Given the description of an element on the screen output the (x, y) to click on. 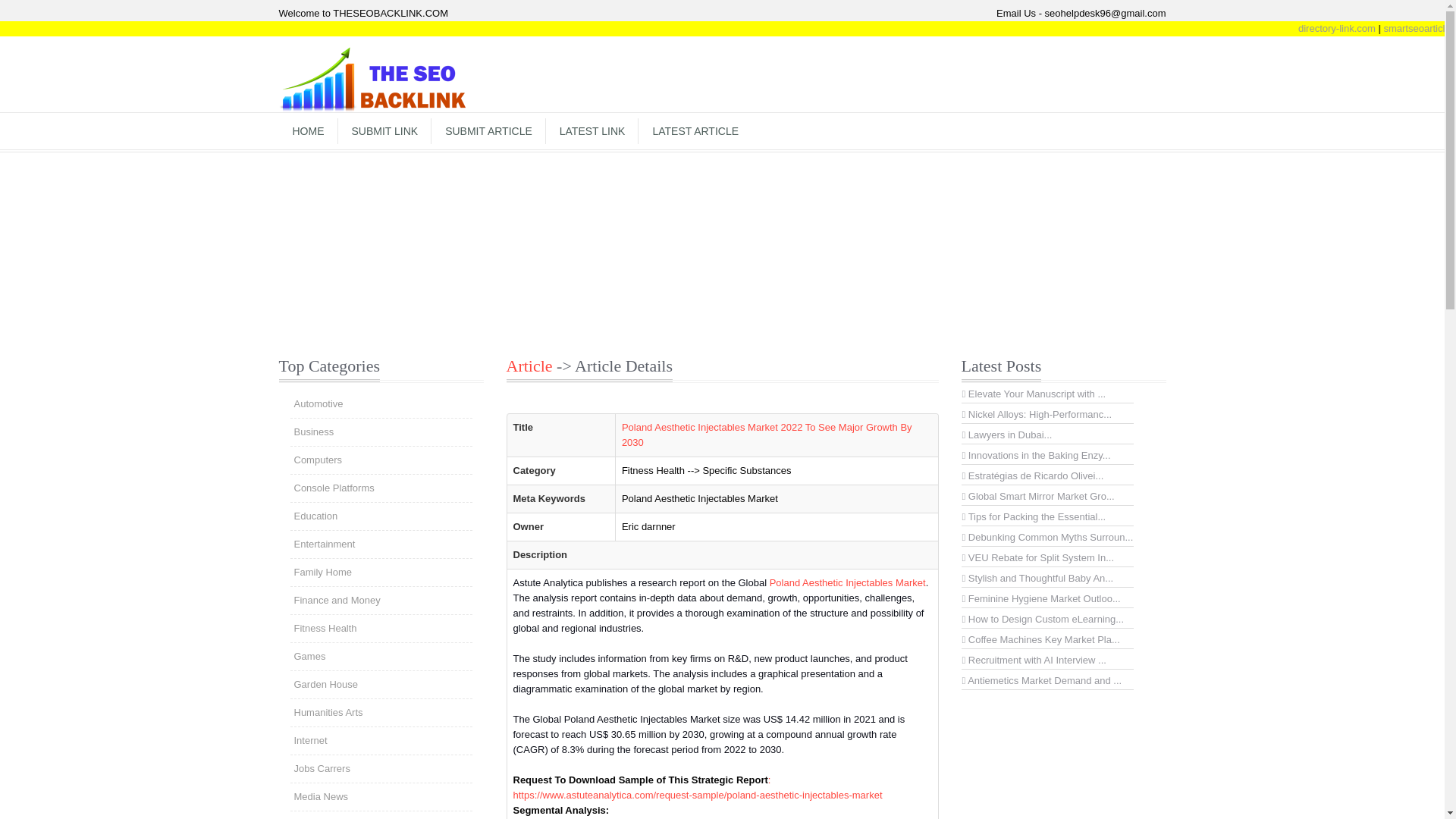
HOME (308, 130)
Media News (381, 796)
SUBMIT ARTICLE (488, 130)
Console Platforms (381, 488)
SUBMIT LINK (385, 130)
Games (381, 656)
Family Home (381, 572)
Jobs Carrers (381, 768)
Internet (381, 740)
Garden House (381, 684)
LATEST LINK (592, 130)
Pets Animals (381, 815)
Humanities Arts (381, 712)
Education (381, 515)
Automotive (381, 403)
